Given the description of an element on the screen output the (x, y) to click on. 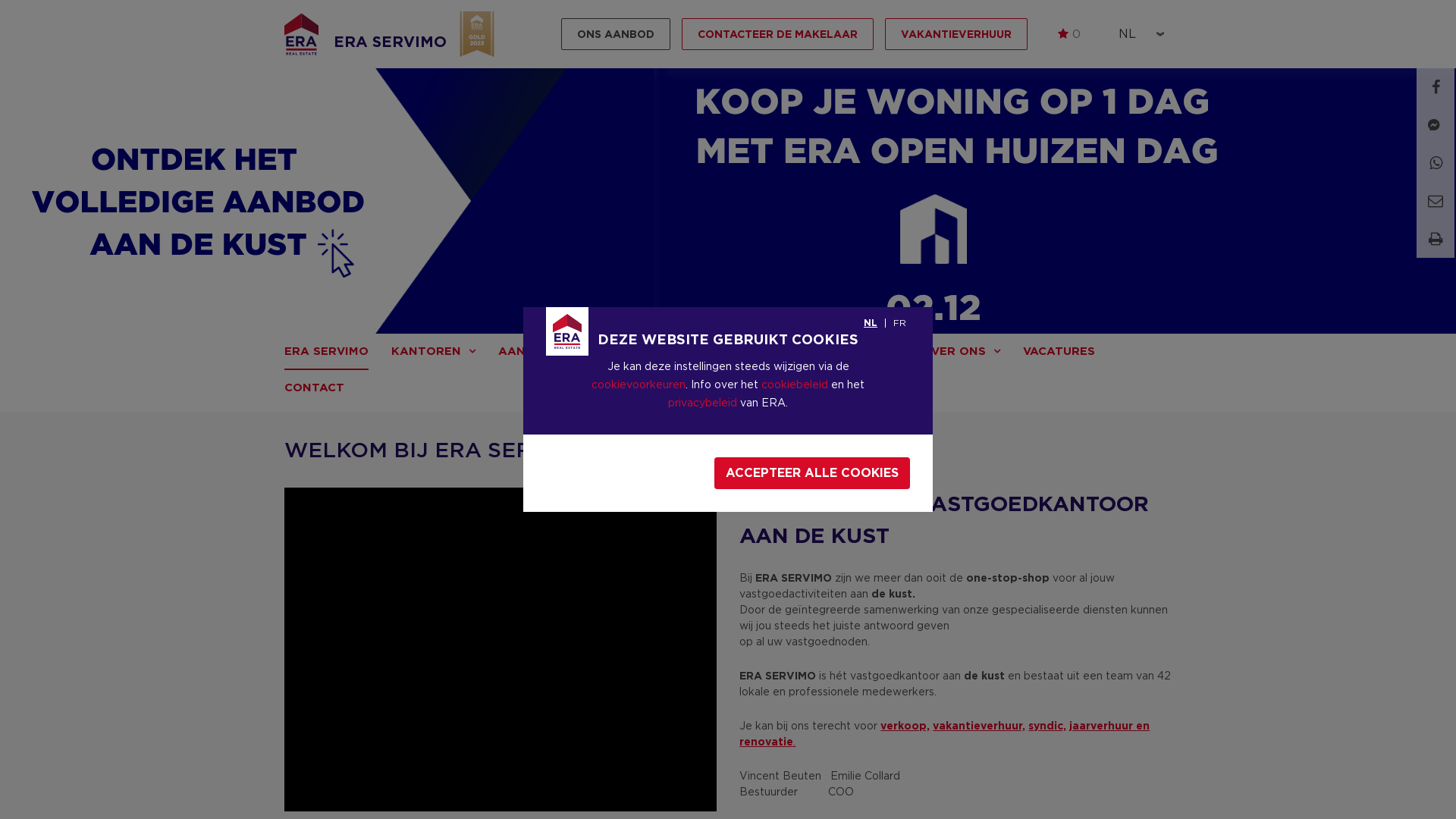
AANBOD Element type: text (532, 351)
verkoop, Element type: text (904, 725)
0 Element type: text (1068, 33)
NL Element type: text (870, 322)
DIENSTEN Element type: text (861, 351)
privacybeleid Element type: text (702, 402)
CONTACTEER DE MAKELAAR Element type: text (777, 34)
FR Element type: text (899, 322)
VAKANTIEVERHUUR Element type: text (955, 34)
ERA SERVIMO Element type: text (326, 351)
VAKANTIEVERHUUR Element type: text (740, 351)
VACATURES Element type: text (1058, 351)
cookievoorkeuren Element type: text (638, 384)
ERA SERVIMO Element type: text (389, 41)
syndic, Element type: text (1047, 725)
cookiebeleid Element type: text (794, 384)
ERA Belgium Element type: hover (301, 33)
jaarverhuur Element type: text (1102, 725)
RENOVATIE Element type: text (623, 351)
vakantieverhuur, Element type: text (978, 725)
. Element type: text (794, 741)
ACCEPTEER ALLE COOKIES Element type: text (812, 473)
ONS AANBOD Element type: text (615, 34)
en renovatie Element type: text (944, 733)
CONTACT Element type: text (314, 388)
OVER ONS Element type: text (961, 351)
